Given the description of an element on the screen output the (x, y) to click on. 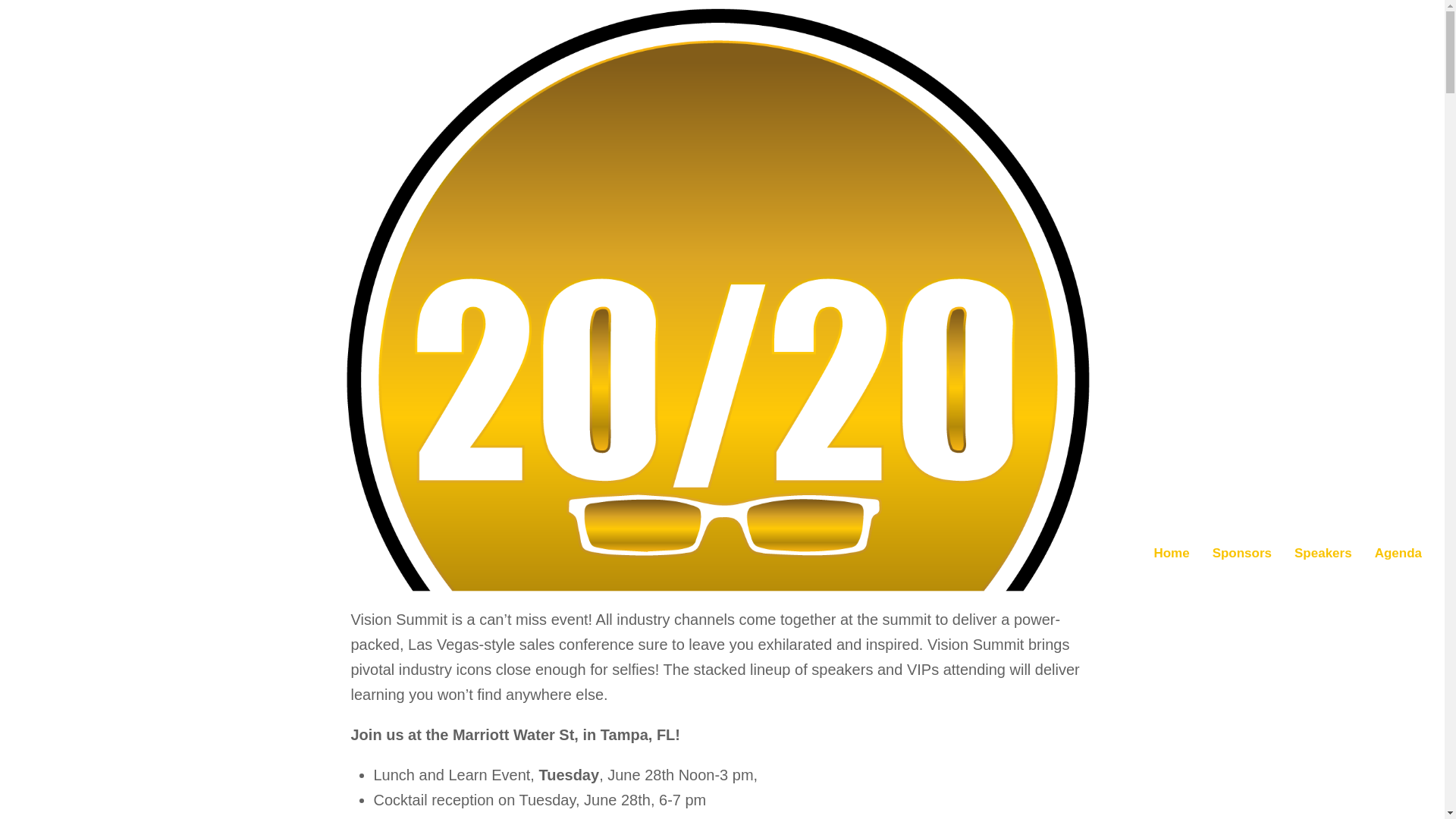
Agenda (1397, 554)
Speakers (1322, 554)
Sponsors (1241, 554)
Home (1170, 554)
